Given the description of an element on the screen output the (x, y) to click on. 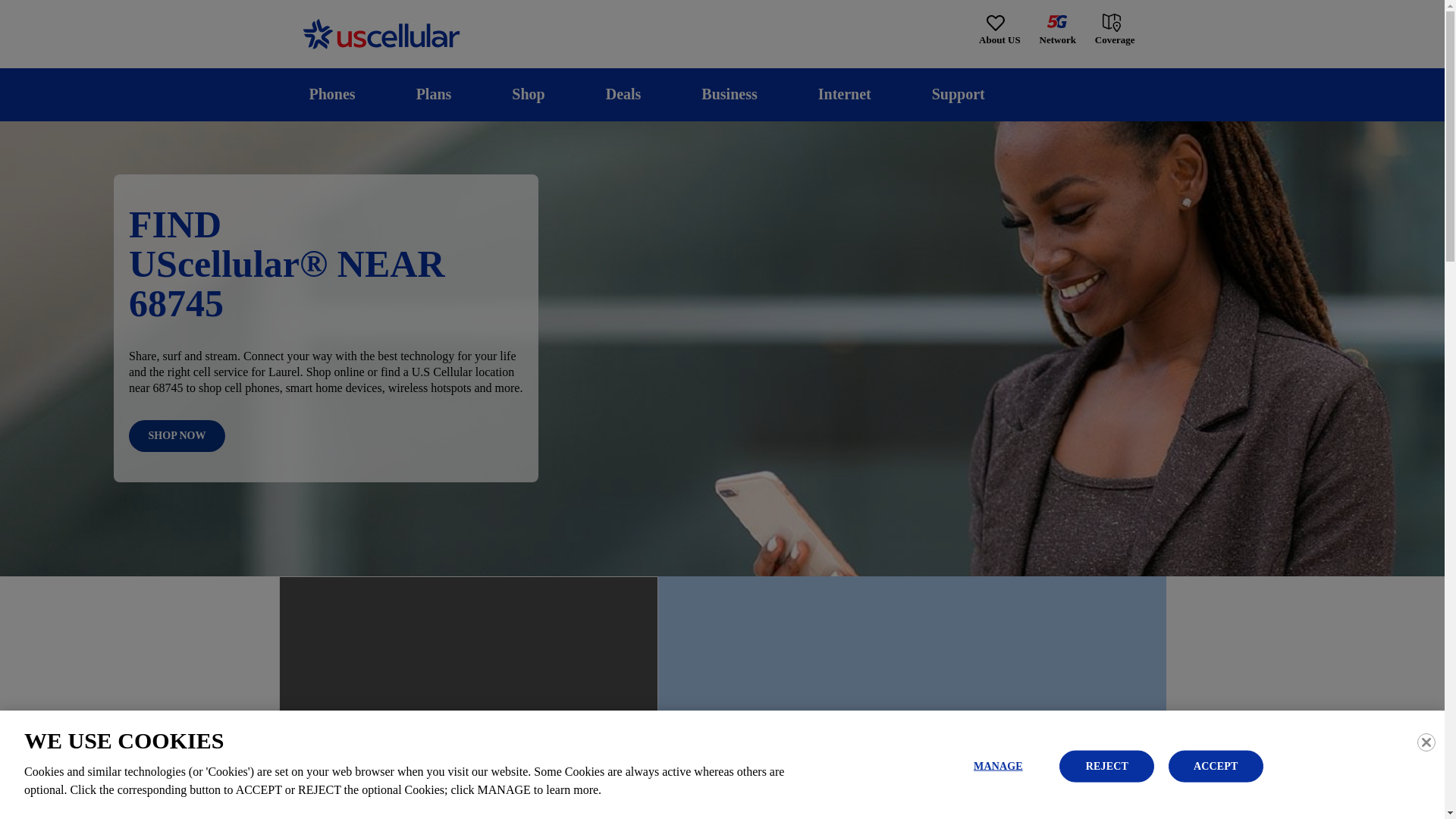
Coverage (1115, 29)
Business (729, 94)
About US (999, 30)
Support (957, 94)
Plans (433, 94)
Shop (528, 94)
Phones (332, 94)
Network (1057, 30)
SHOP NOW (177, 436)
Deals (623, 94)
